Given the description of an element on the screen output the (x, y) to click on. 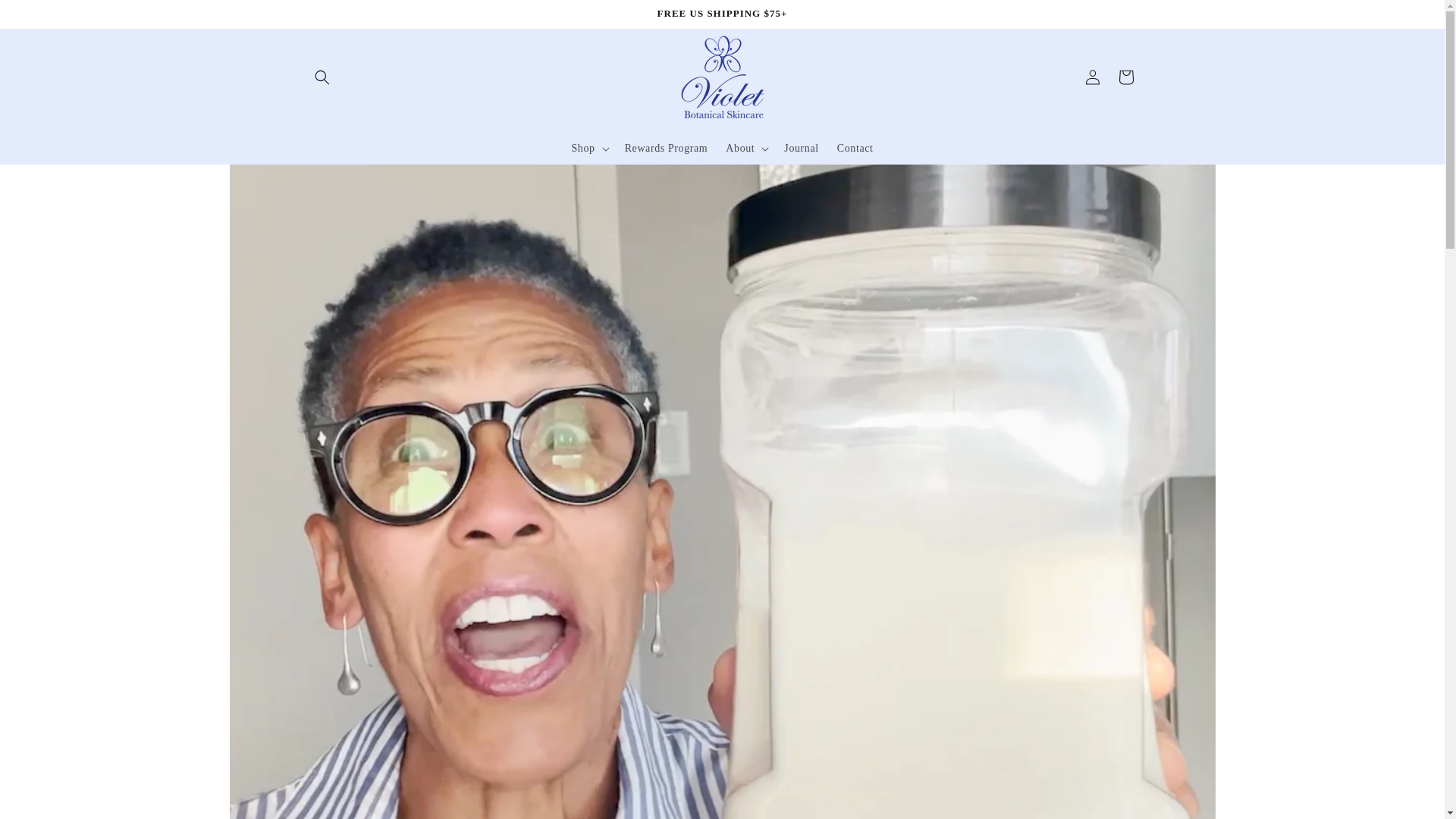
Rewards Program (666, 147)
Skip to content (45, 17)
